Given the description of an element on the screen output the (x, y) to click on. 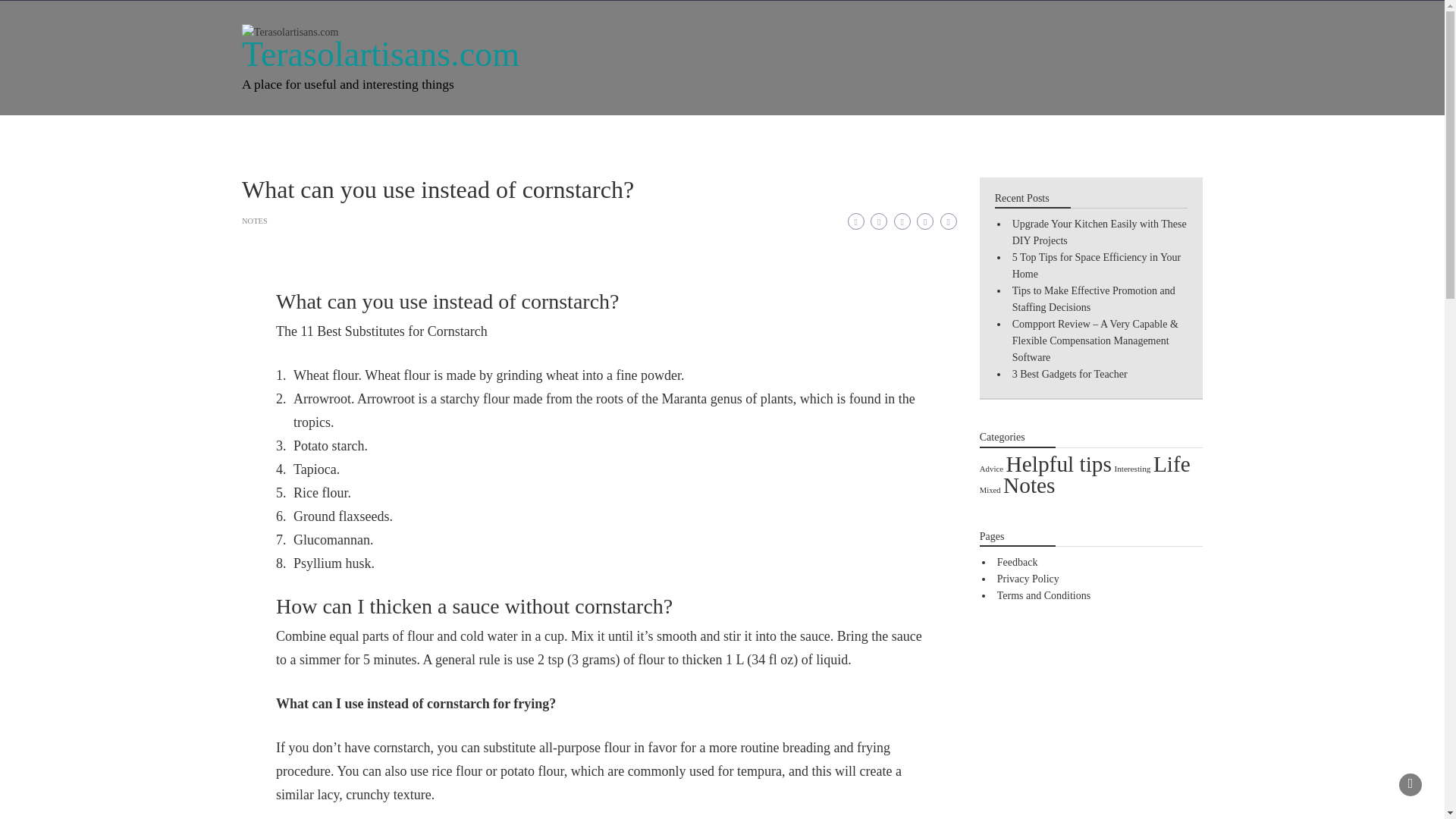
Interesting (1131, 468)
Upgrade Your Kitchen Easily with These DIY Projects (1098, 232)
Helpful tips (679, 134)
Life (414, 134)
3 Best Gadgets for Teacher (1068, 374)
Advice (536, 134)
Advice (991, 468)
Terasolartisans.com (380, 54)
5 Top Tips for Space Efficiency in Your Home (1095, 265)
Mixed (602, 134)
